Given the description of an element on the screen output the (x, y) to click on. 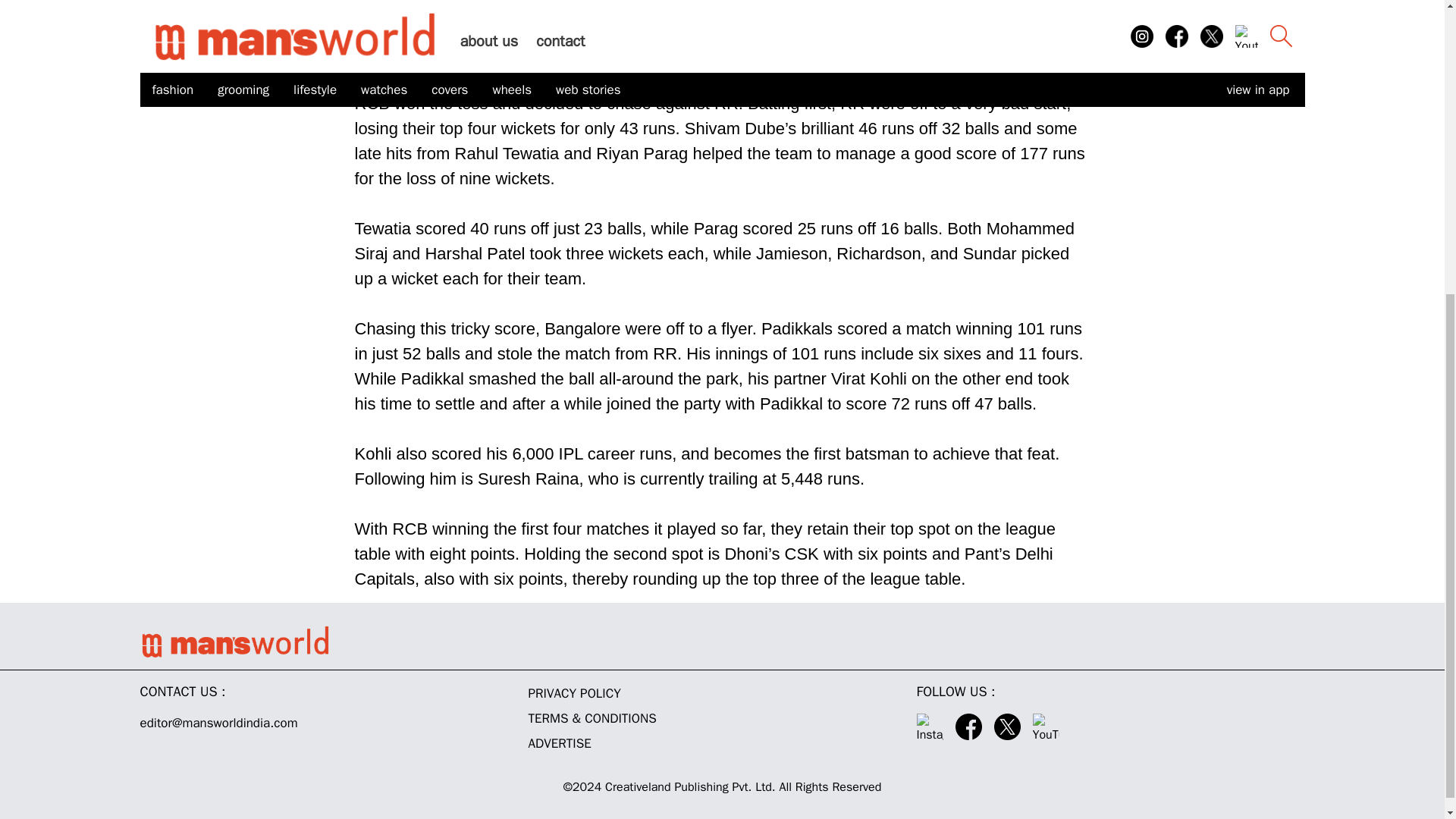
ADVERTISE (721, 743)
PRIVACY POLICY (721, 693)
